Given the description of an element on the screen output the (x, y) to click on. 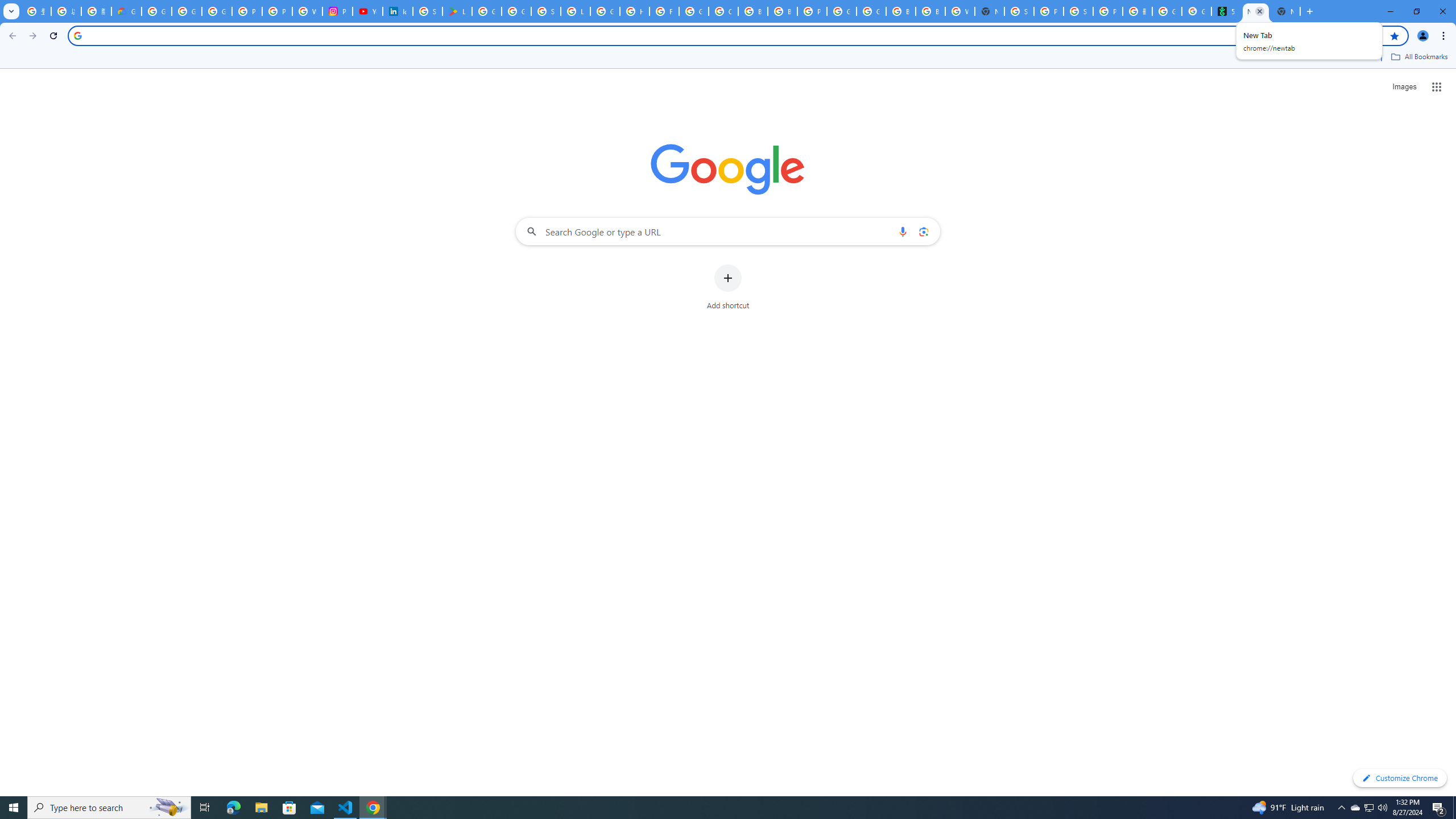
Last Shelter: Survival - Apps on Google Play (456, 11)
Sign in - Google Accounts (545, 11)
New Tab (1284, 11)
